Given the description of an element on the screen output the (x, y) to click on. 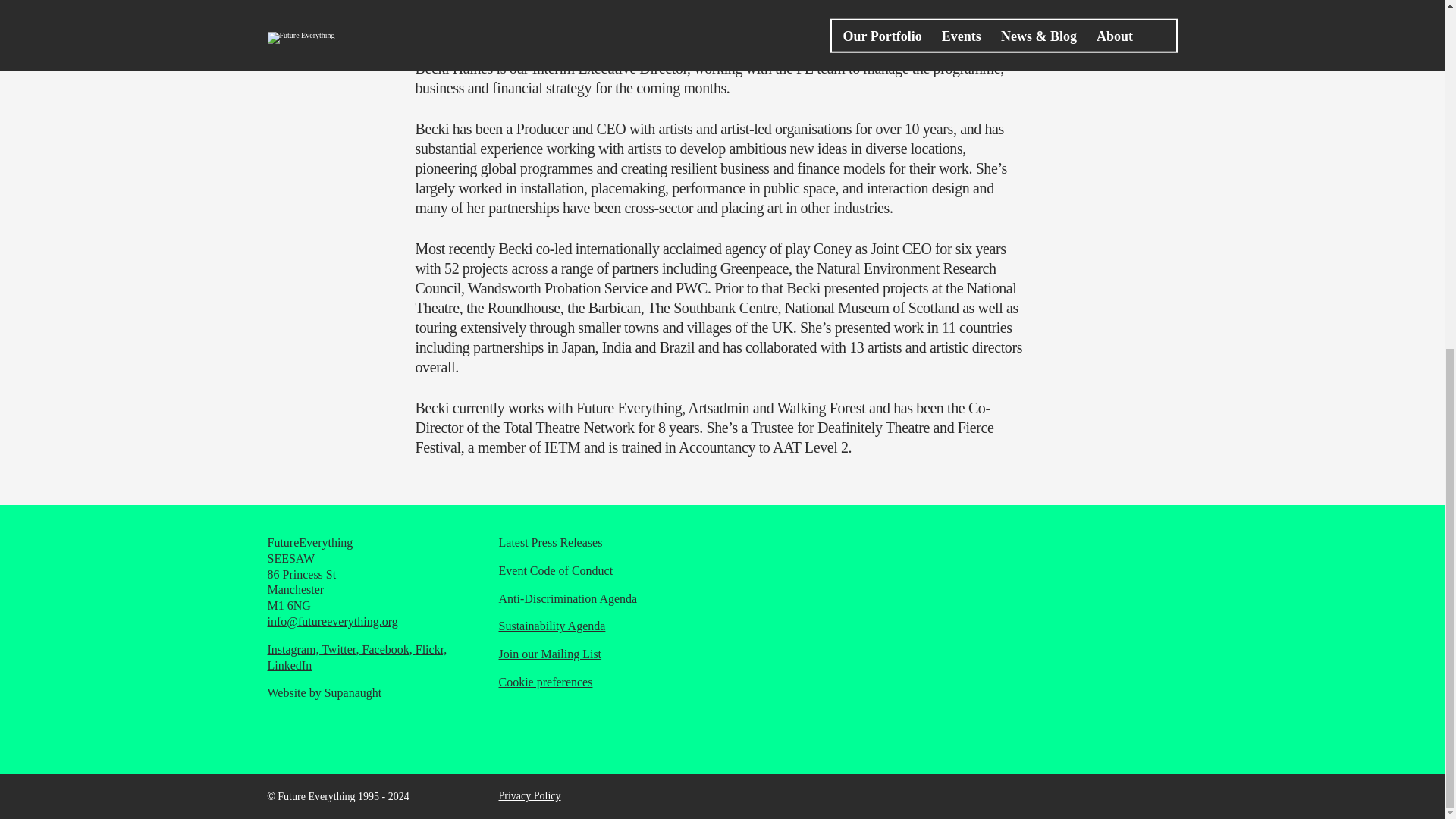
Instagram, (293, 649)
Anti-Discrimination Agenda (568, 598)
Press Releases (566, 542)
LinkedIn (288, 665)
Facebook, (388, 649)
Cookie preferences (545, 681)
Supanaught (352, 692)
Twitter, (341, 649)
Sustainability Agenda (552, 625)
Privacy Policy (529, 795)
Flickr, (430, 649)
Event Code of Conduct (555, 570)
Join our Mailing List (550, 653)
